Given the description of an element on the screen output the (x, y) to click on. 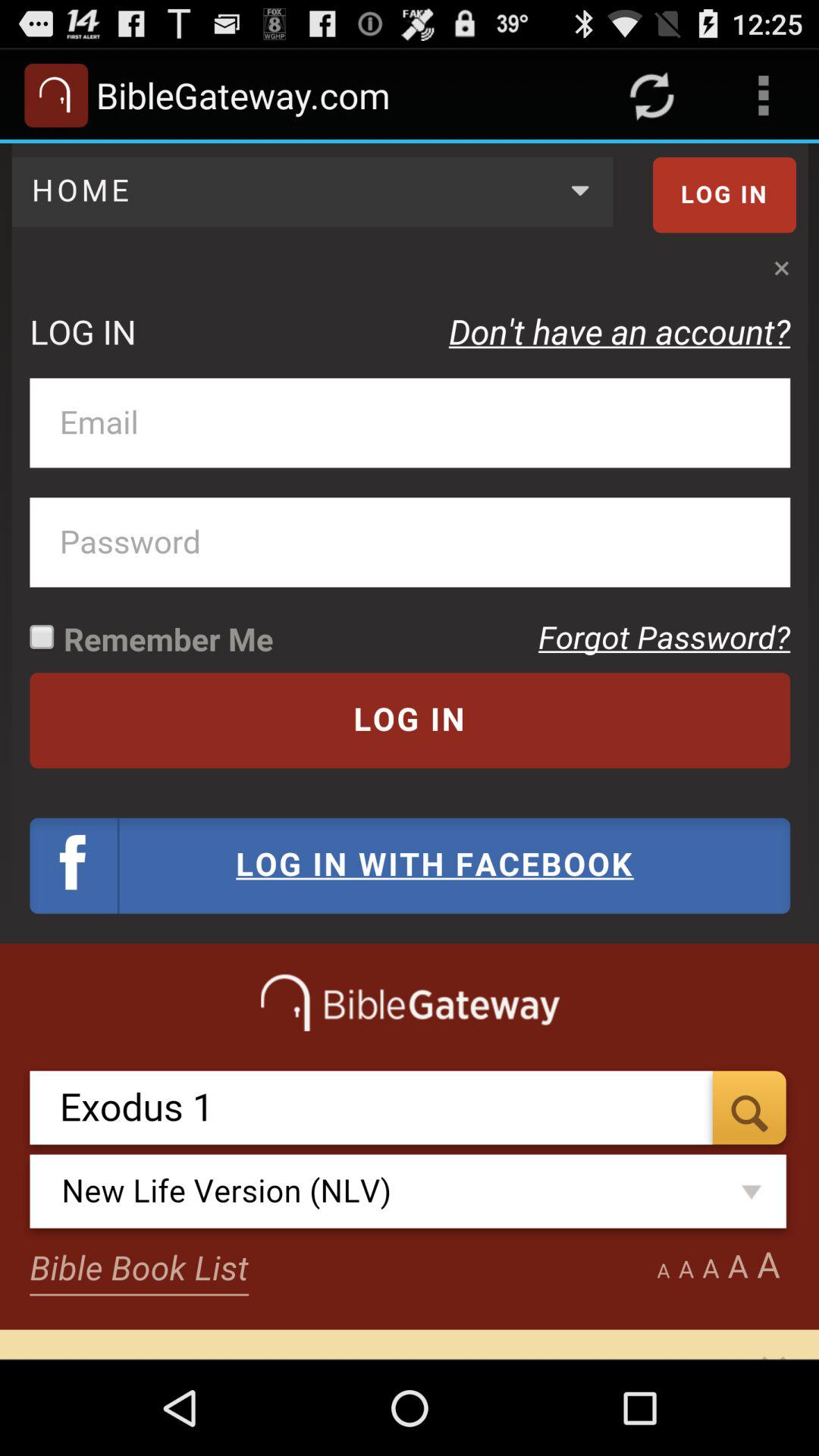
fill in the forms and log in (409, 751)
